Given the description of an element on the screen output the (x, y) to click on. 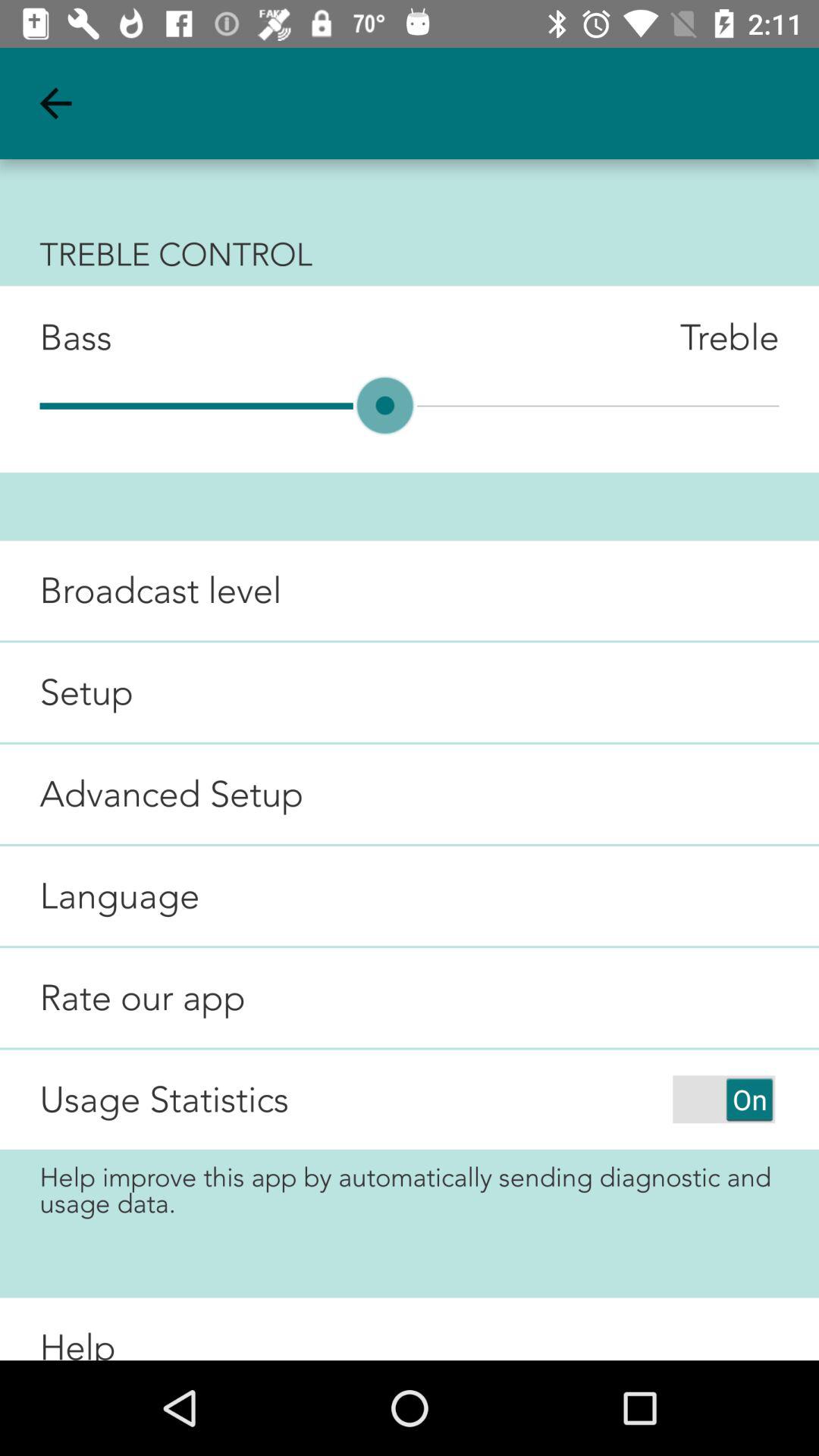
flip to bass icon (56, 337)
